Given the description of an element on the screen output the (x, y) to click on. 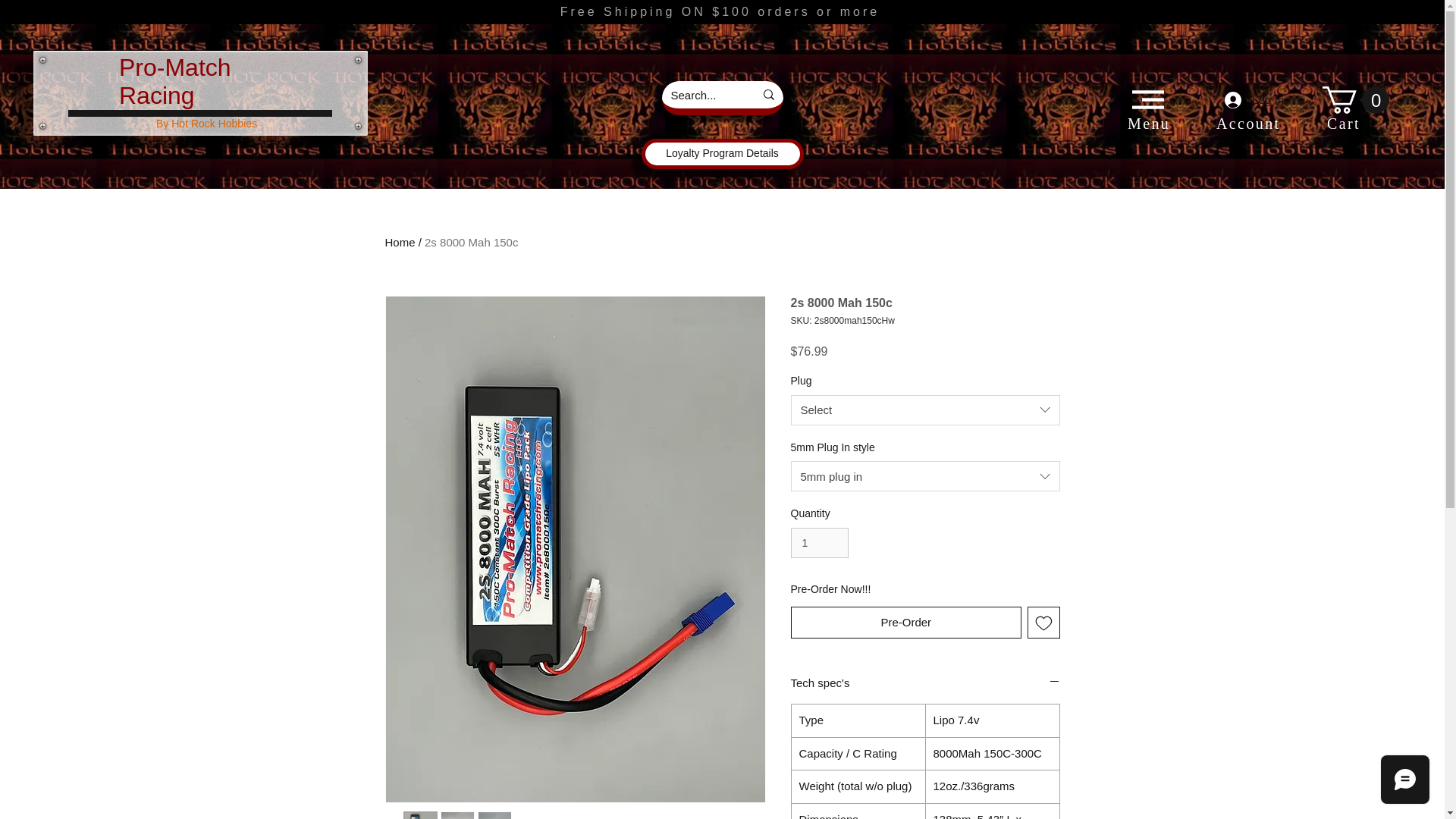
Tech spec's (924, 682)
Pre-Order (906, 622)
5mm plug in (924, 476)
1 (818, 542)
2s 8000 Mah 150c (471, 241)
0 (1355, 99)
Select (924, 409)
Loyalty Program Details (722, 153)
0 (1355, 99)
Home (399, 241)
By Hot Rock Hobbies (206, 123)
Pro-Match Racing (175, 81)
Log In (1254, 99)
